Given the description of an element on the screen output the (x, y) to click on. 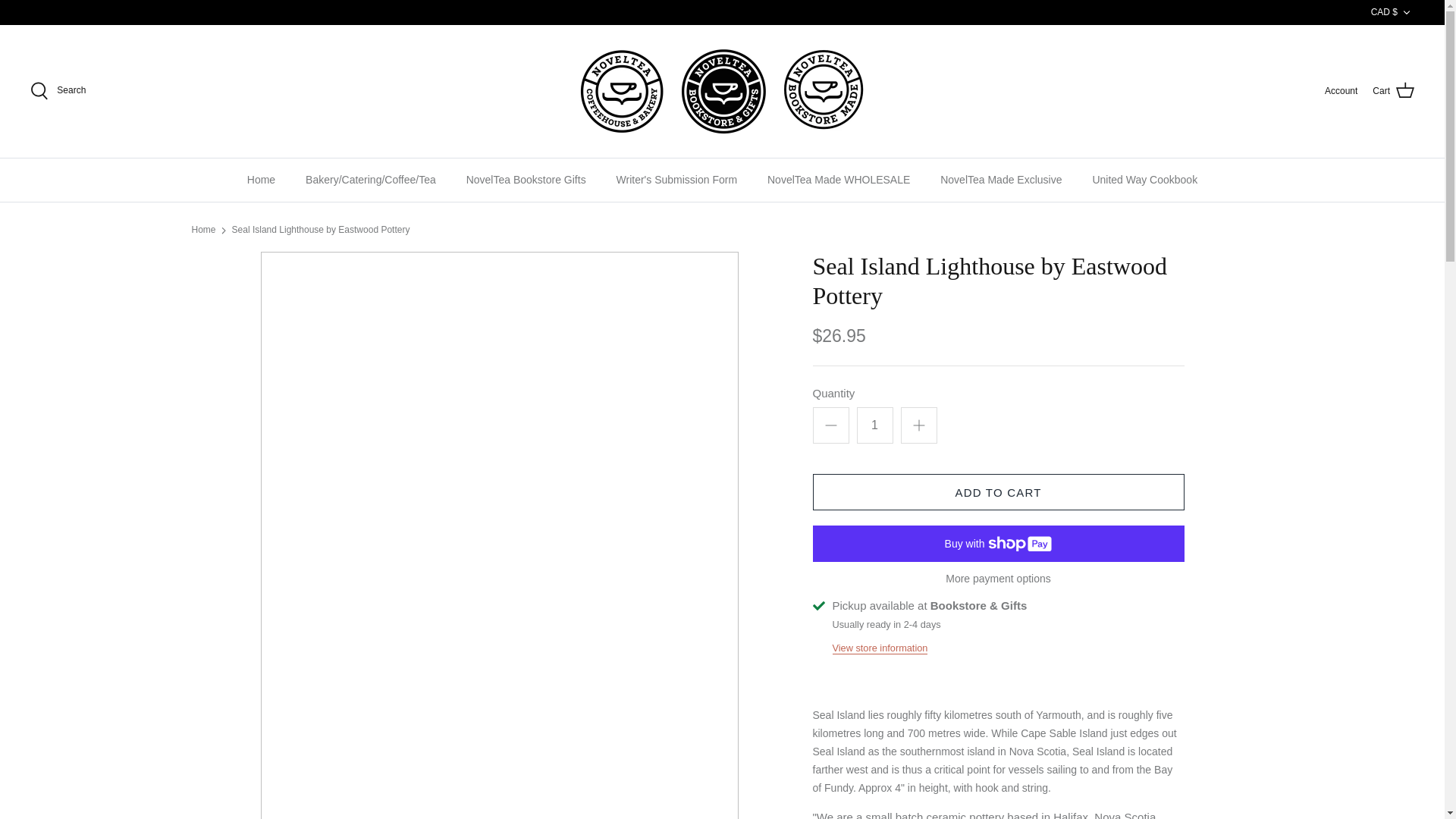
Minus (831, 425)
1 (875, 425)
Search (57, 90)
NovelTea Bookstore Cafe (722, 91)
Down (1406, 12)
Cart (1393, 90)
Account (1340, 91)
Home (260, 179)
Plus (919, 425)
